Given the description of an element on the screen output the (x, y) to click on. 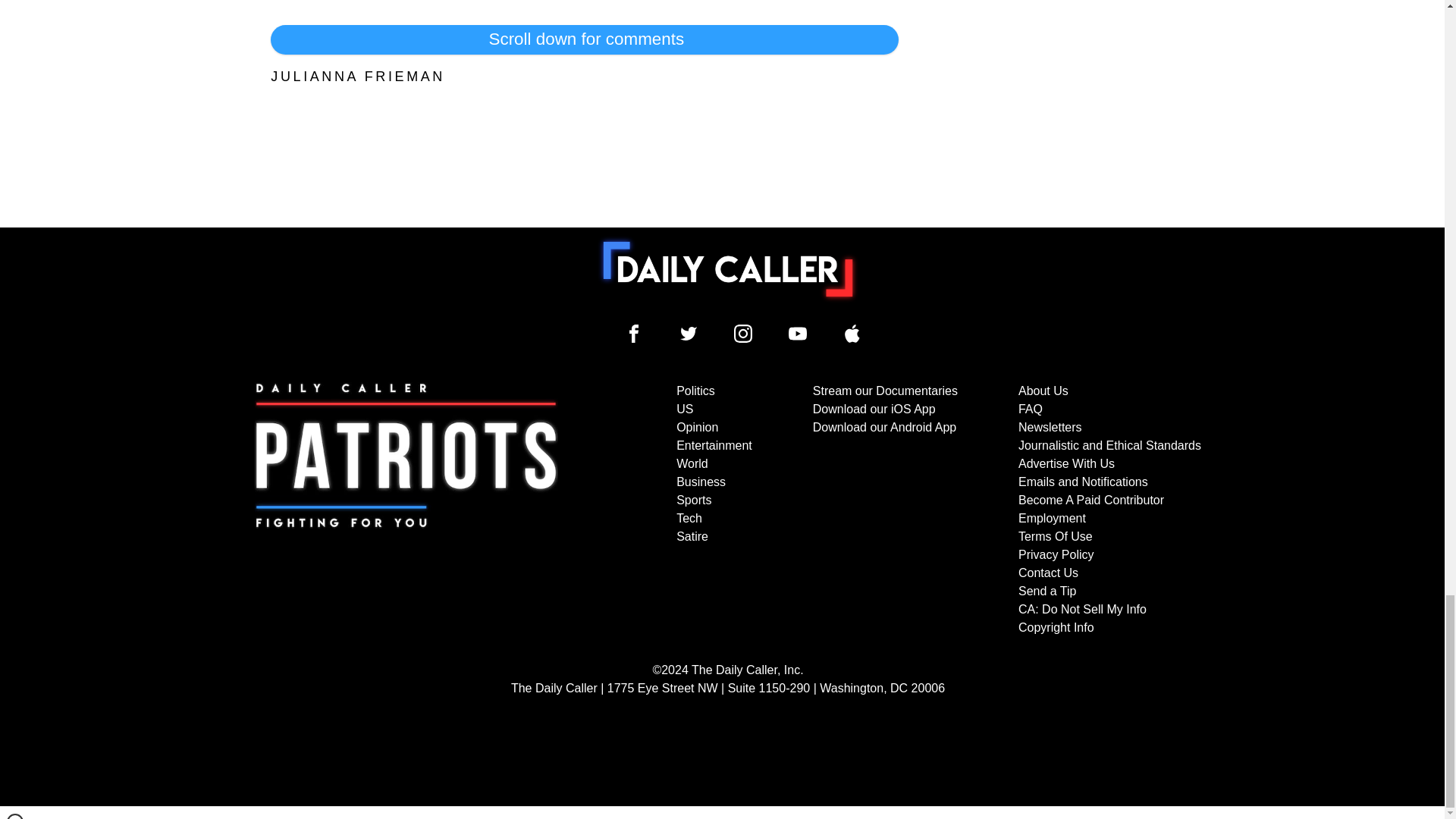
Subscribe to The Daily Caller (405, 509)
To home page (727, 268)
Daily Caller YouTube (797, 333)
Daily Caller YouTube (852, 333)
Daily Caller Facebook (633, 333)
Daily Caller Instagram (742, 333)
Daily Caller Twitter (688, 333)
Scroll down for comments (584, 39)
